Given the description of an element on the screen output the (x, y) to click on. 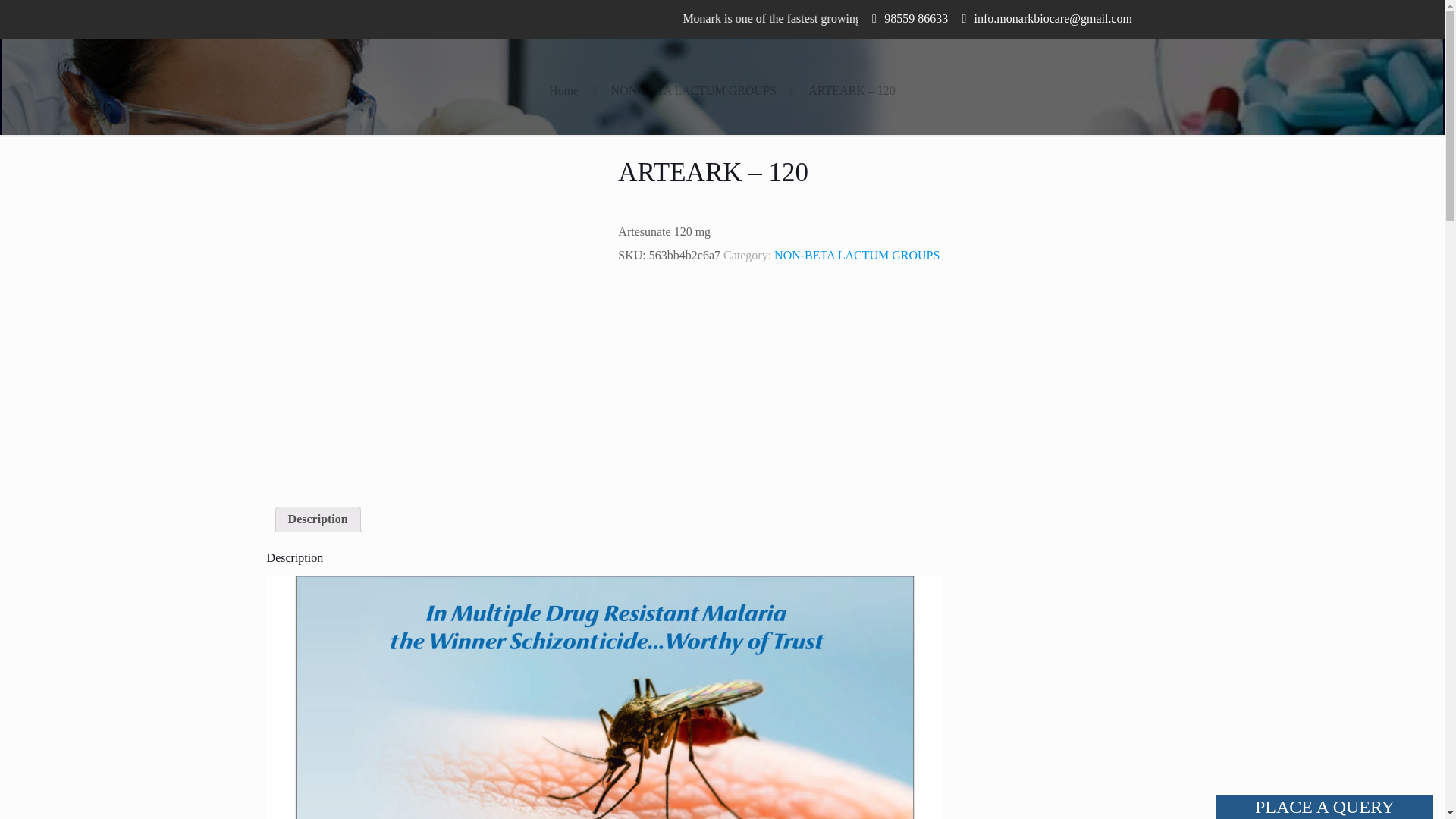
NON-BETA LACTUM GROUPS (856, 254)
NON-BETA LACTUM GROUPS (693, 90)
Description (317, 518)
Home (563, 90)
98559 86633 (915, 18)
